Given the description of an element on the screen output the (x, y) to click on. 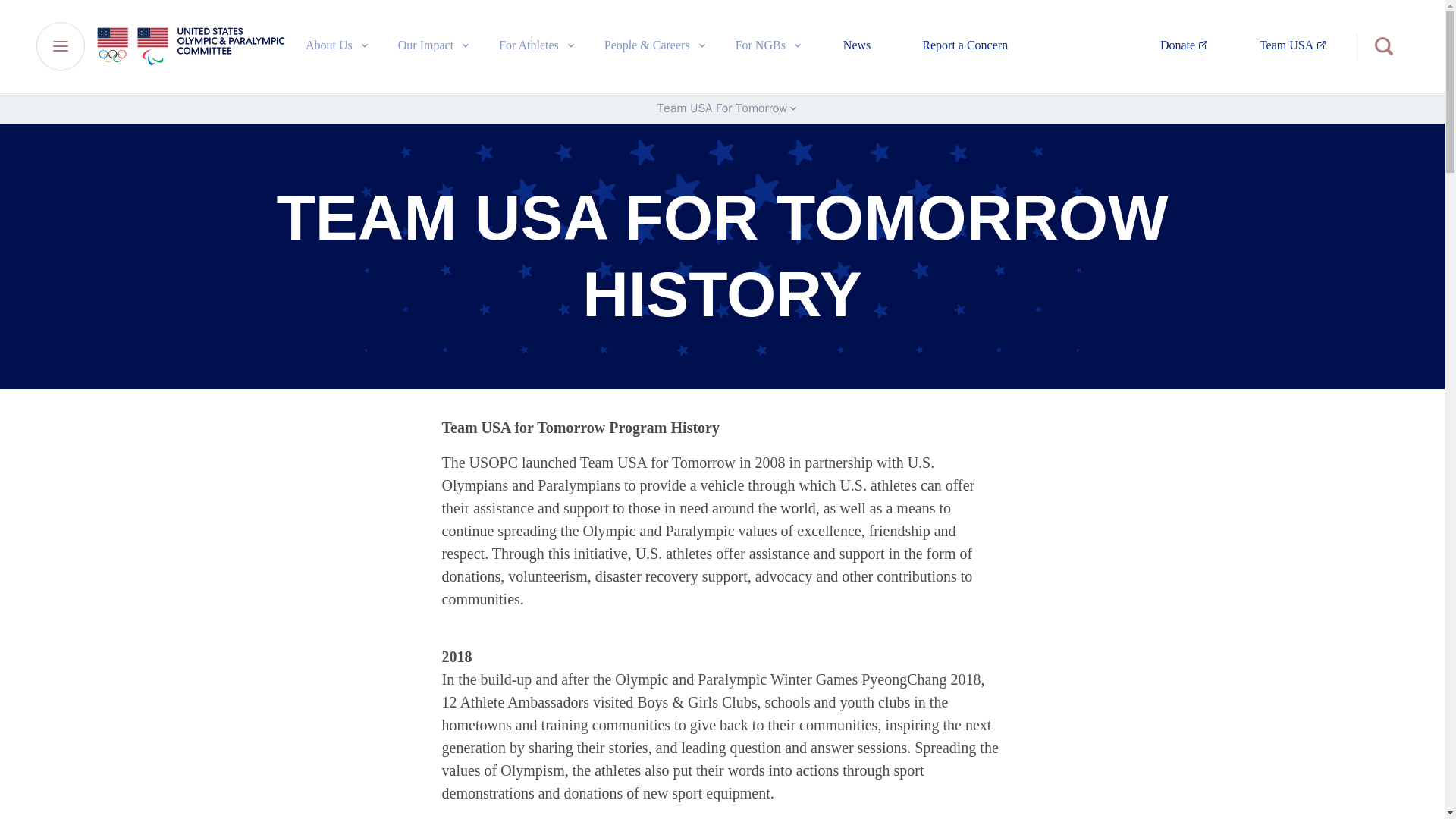
Report a Concern (1292, 45)
News (964, 45)
Our Impact (856, 45)
For Athletes (434, 45)
For NGBs (537, 45)
About Us (769, 45)
